Given the description of an element on the screen output the (x, y) to click on. 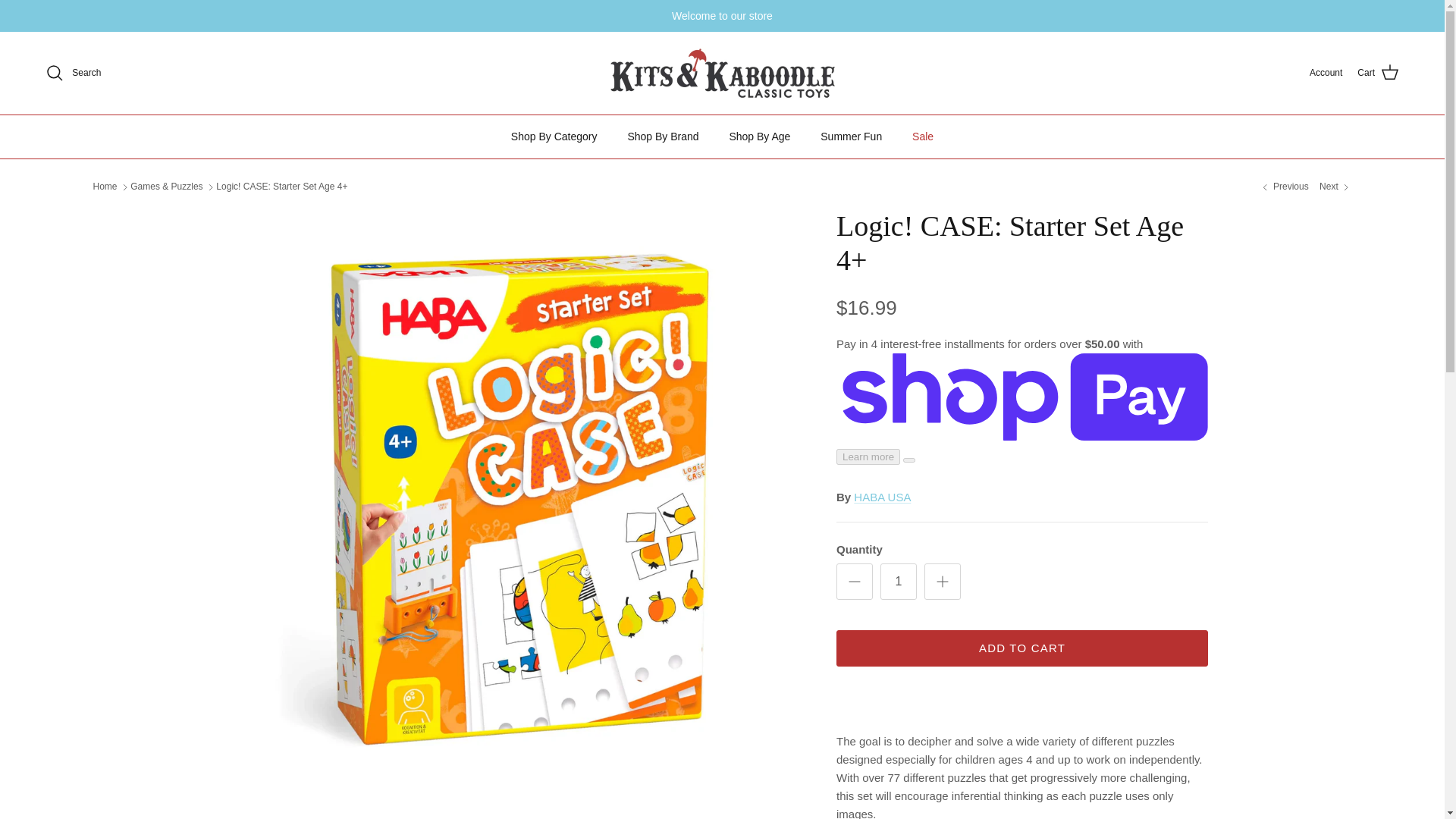
Shop By Category (554, 136)
Shop By Brand (661, 136)
Trucky 3 (1283, 186)
Account (1325, 73)
1 (898, 581)
Shop By Age (758, 136)
Cart (1377, 72)
Search (72, 72)
kitsandkaboodle (721, 72)
